Given the description of an element on the screen output the (x, y) to click on. 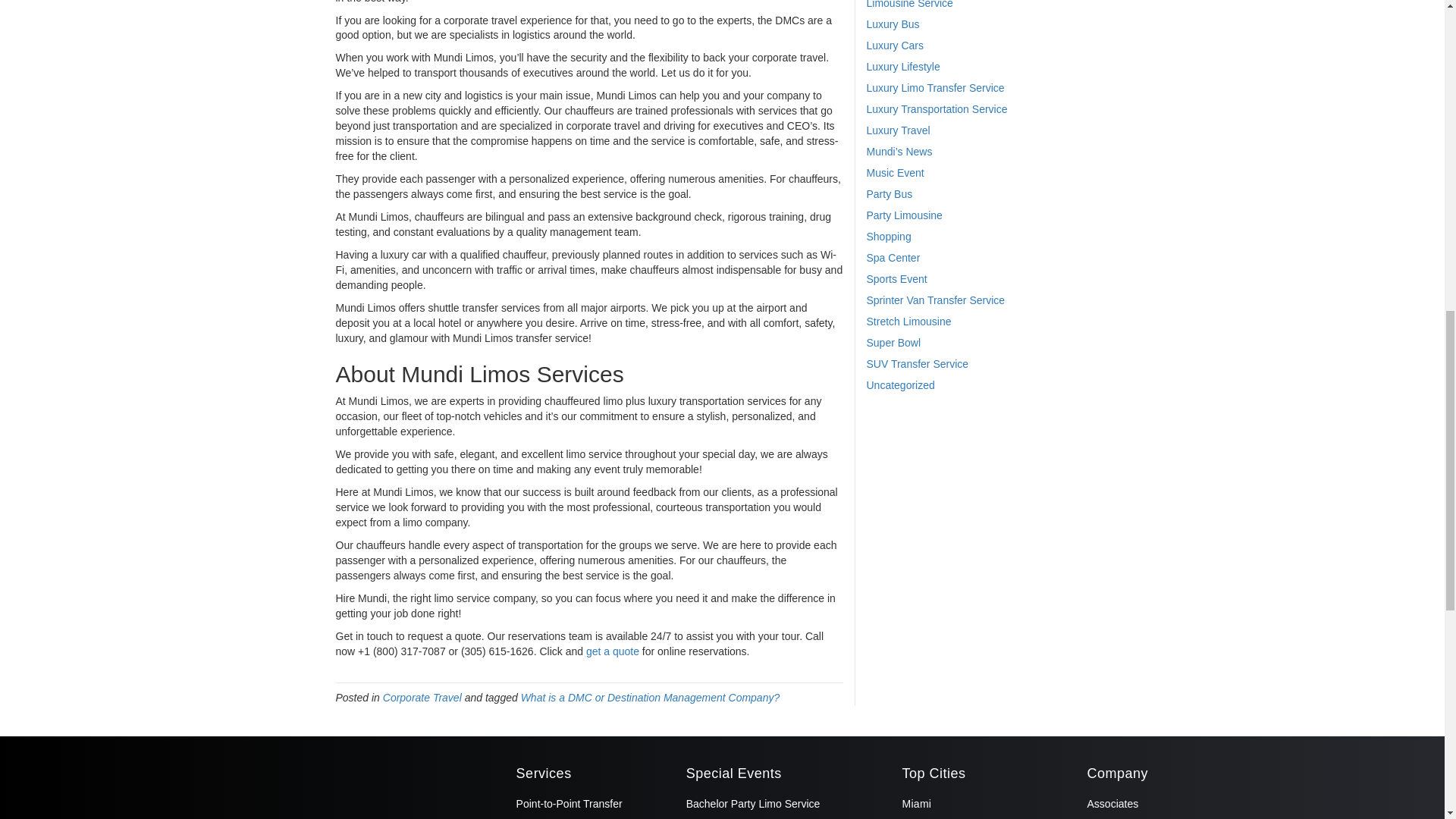
Logo Mundi (298, 776)
What is a DMC or Destination Management Company? (650, 697)
Corporate Travel (421, 697)
get a quote (612, 651)
